Given the description of an element on the screen output the (x, y) to click on. 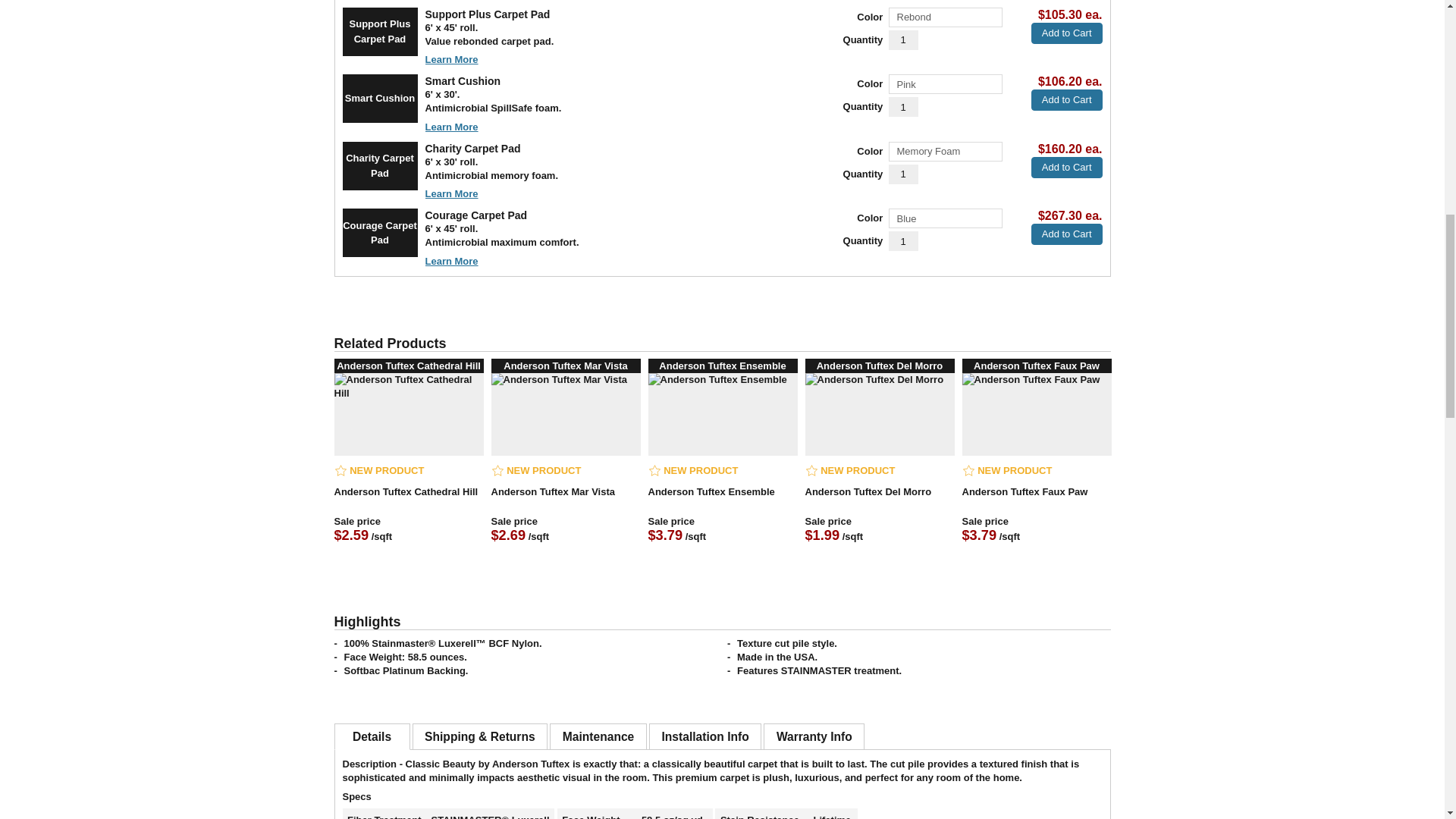
Add to Cart (1066, 33)
1 (903, 39)
Add to Cart (1066, 99)
Add to Cart (1066, 166)
1 (903, 240)
Add to Cart (1066, 233)
1 (903, 173)
1 (903, 107)
